Given the description of an element on the screen output the (x, y) to click on. 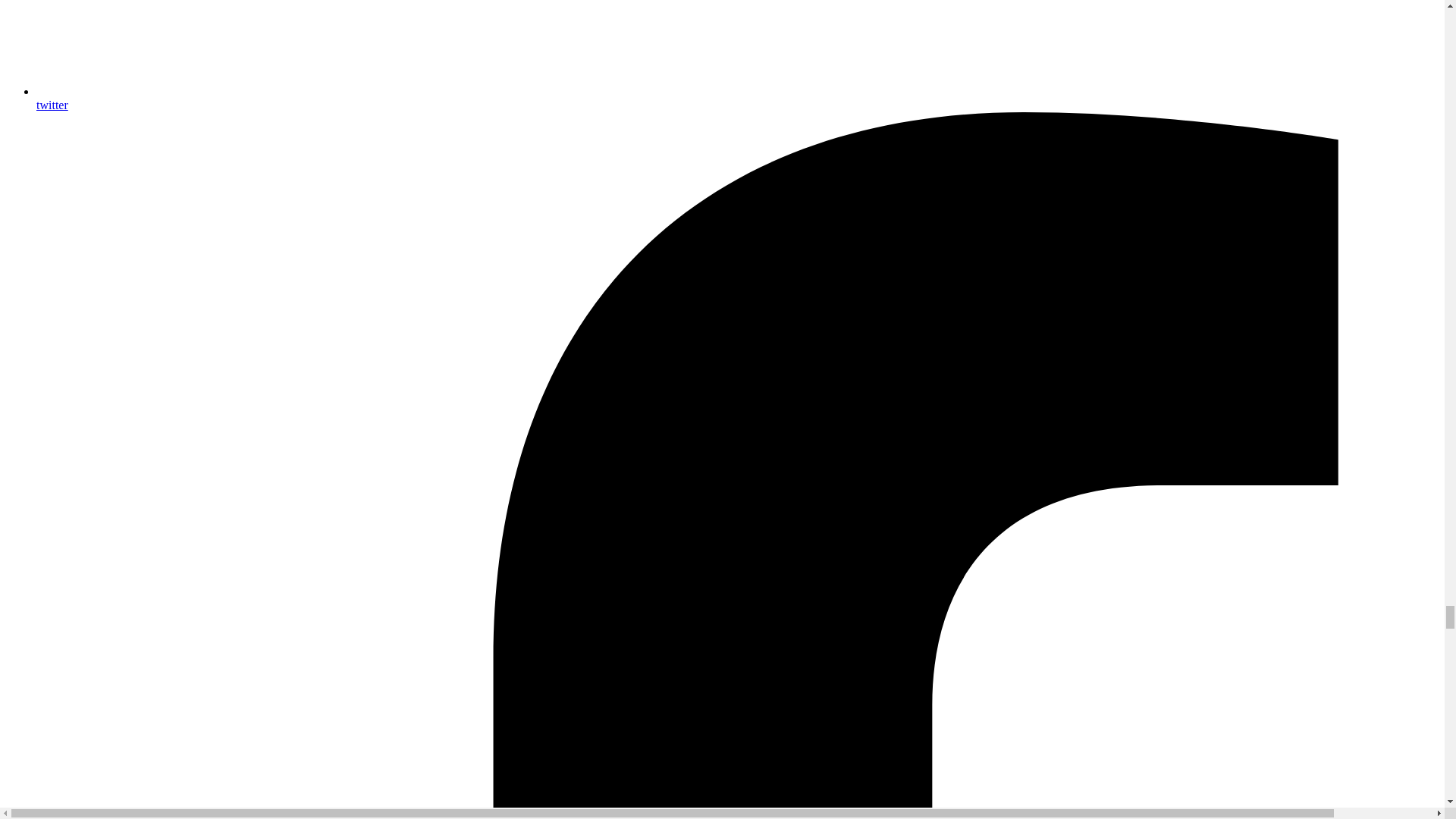
twitter (737, 98)
